Given the description of an element on the screen output the (x, y) to click on. 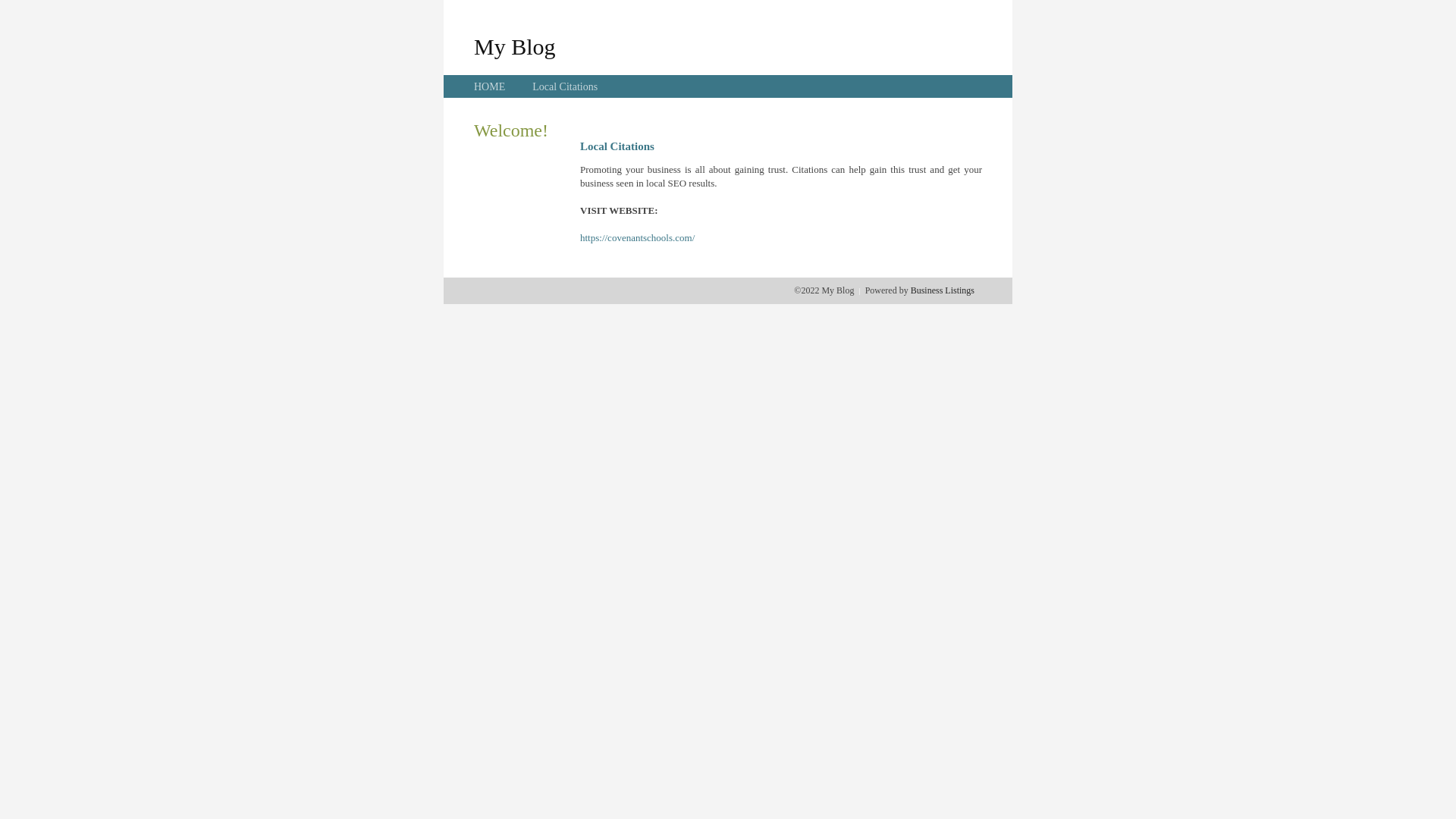
My Blog Element type: text (514, 46)
Local Citations Element type: text (564, 86)
https://covenantschools.com/ Element type: text (637, 237)
HOME Element type: text (489, 86)
Business Listings Element type: text (942, 290)
